Given the description of an element on the screen output the (x, y) to click on. 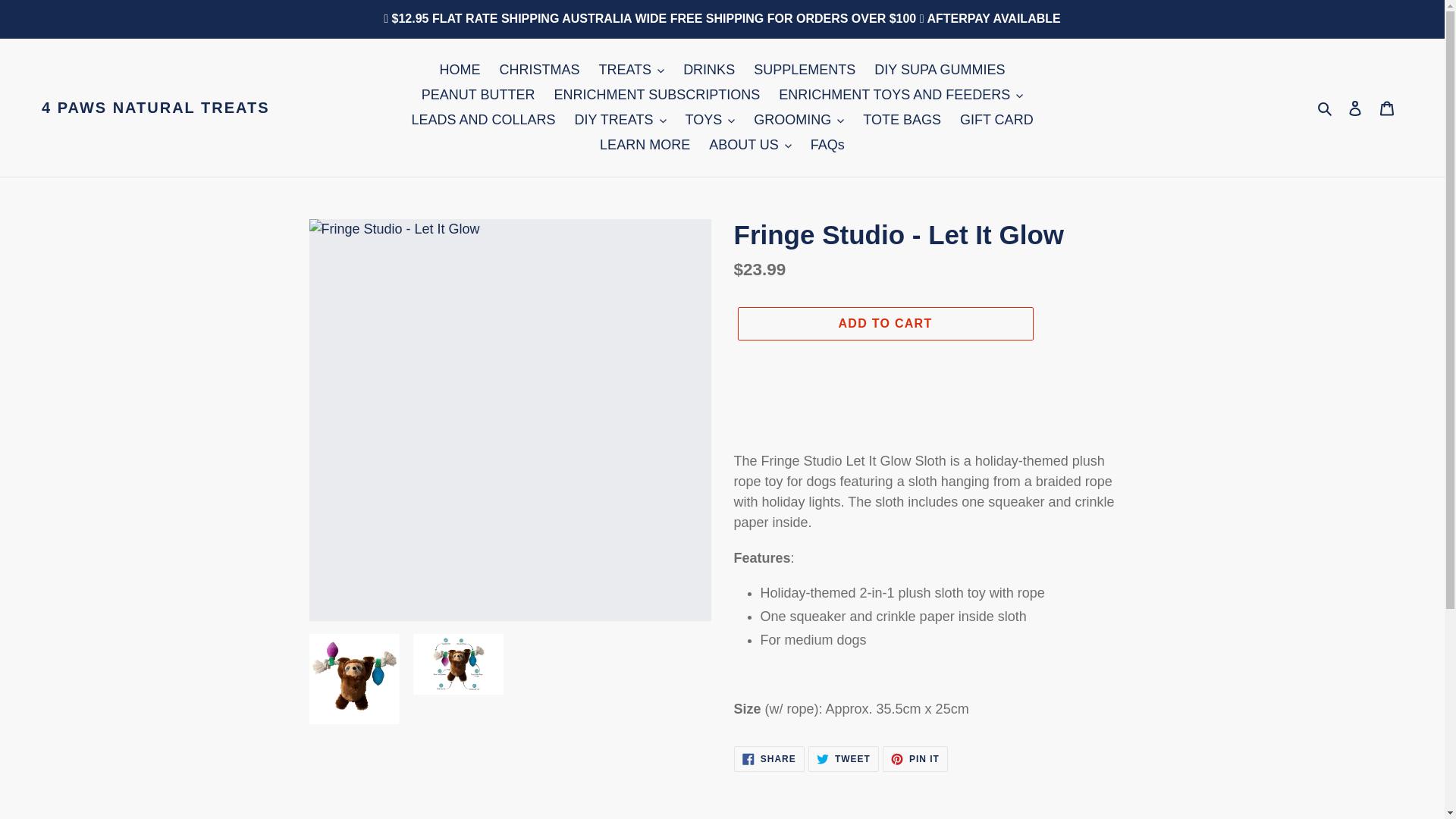
SUPPLEMENTS (804, 69)
TOYS (710, 119)
ENRICHMENT TOYS AND FEEDERS (900, 94)
LEADS AND COLLARS (482, 119)
TREATS (631, 69)
PEANUT BUTTER (478, 94)
DRINKS (708, 69)
DIY TREATS (619, 119)
ENRICHMENT SUBSCRIPTIONS (656, 94)
4 PAWS NATURAL TREATS (155, 107)
